Given the description of an element on the screen output the (x, y) to click on. 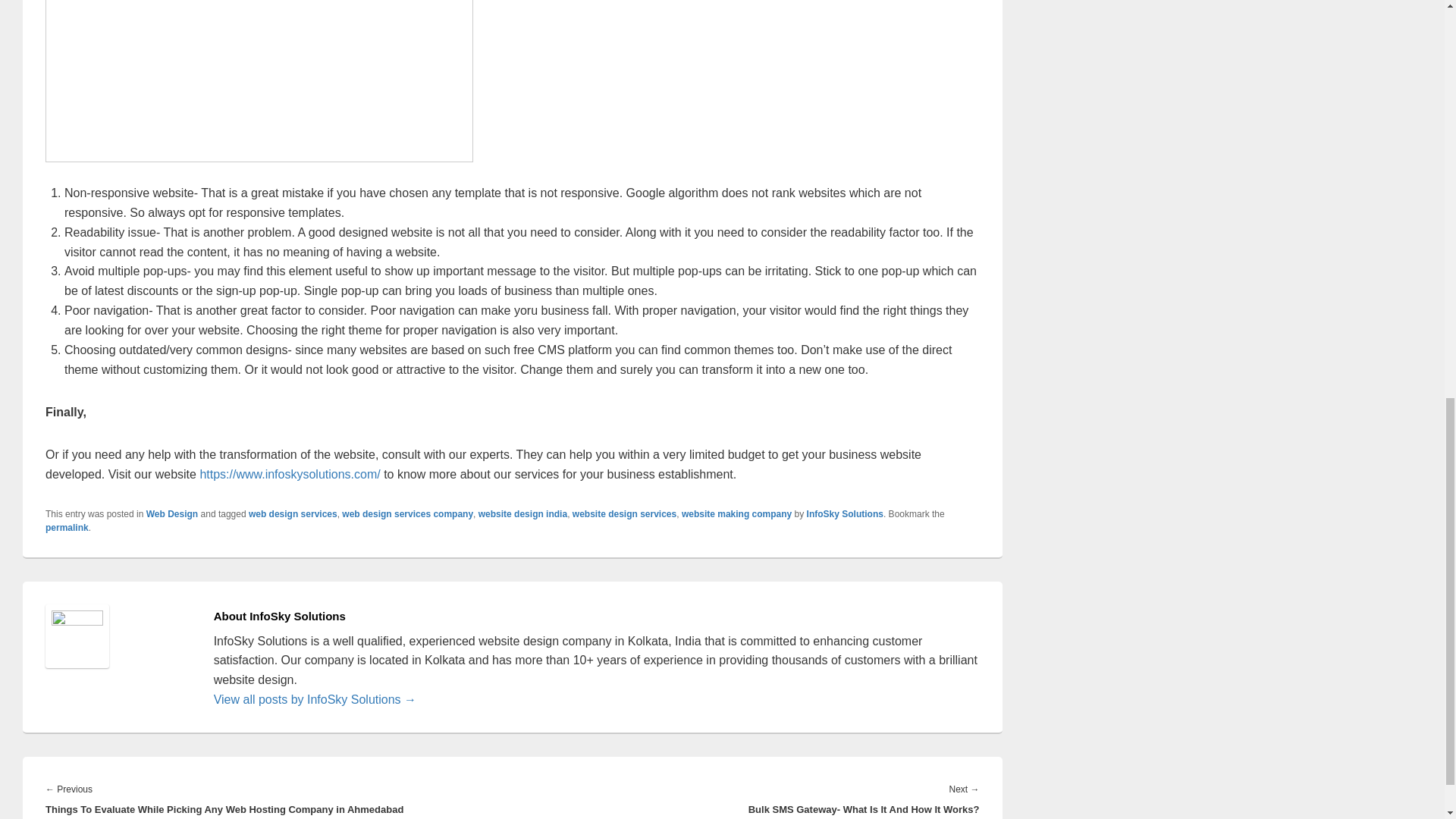
web design services company (407, 513)
Web Design (172, 513)
web design services (292, 513)
